Given the description of an element on the screen output the (x, y) to click on. 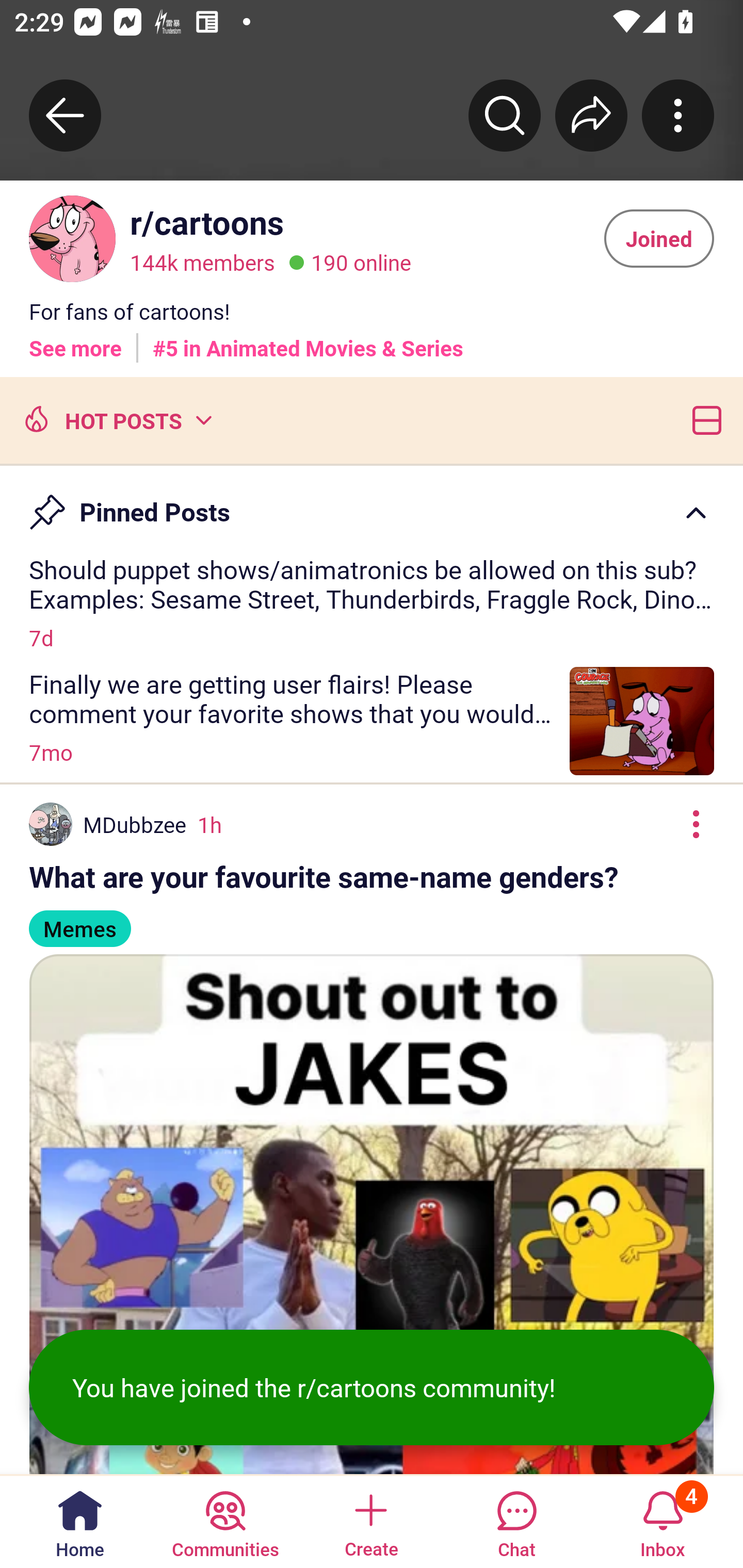
Back (64, 115)
Search r/﻿cartoons (504, 115)
Share r/﻿cartoons (591, 115)
More community actions (677, 115)
Hot posts HOT POSTS (116, 419)
Card (703, 419)
Pin Pinned Posts Caret (371, 503)
Memes (79, 919)
Home (80, 1520)
Communities (225, 1520)
Create a post Create (370, 1520)
Chat (516, 1520)
Inbox, has 4 notifications 4 Inbox (662, 1520)
